Given the description of an element on the screen output the (x, y) to click on. 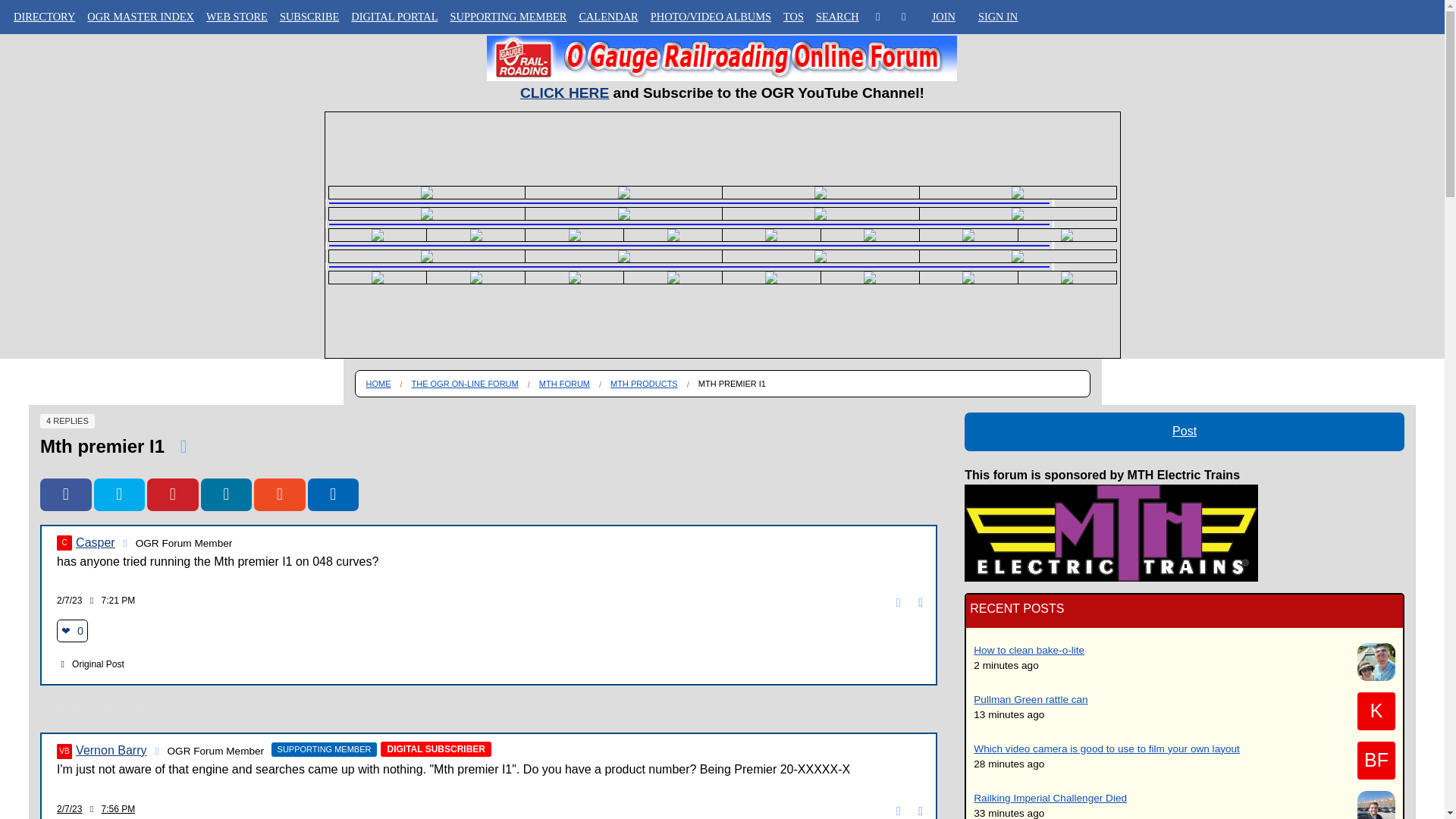
Vernon Barry (63, 751)
Casper (63, 542)
LAYOUT BUILDING FORUMS (44, 168)
DIRECTORY (44, 17)
OGR VIDEOS (44, 109)
VB (63, 751)
K (1375, 711)
TRAIN FORUMS (44, 138)
DIRECTORY (44, 50)
C (63, 542)
